Given the description of an element on the screen output the (x, y) to click on. 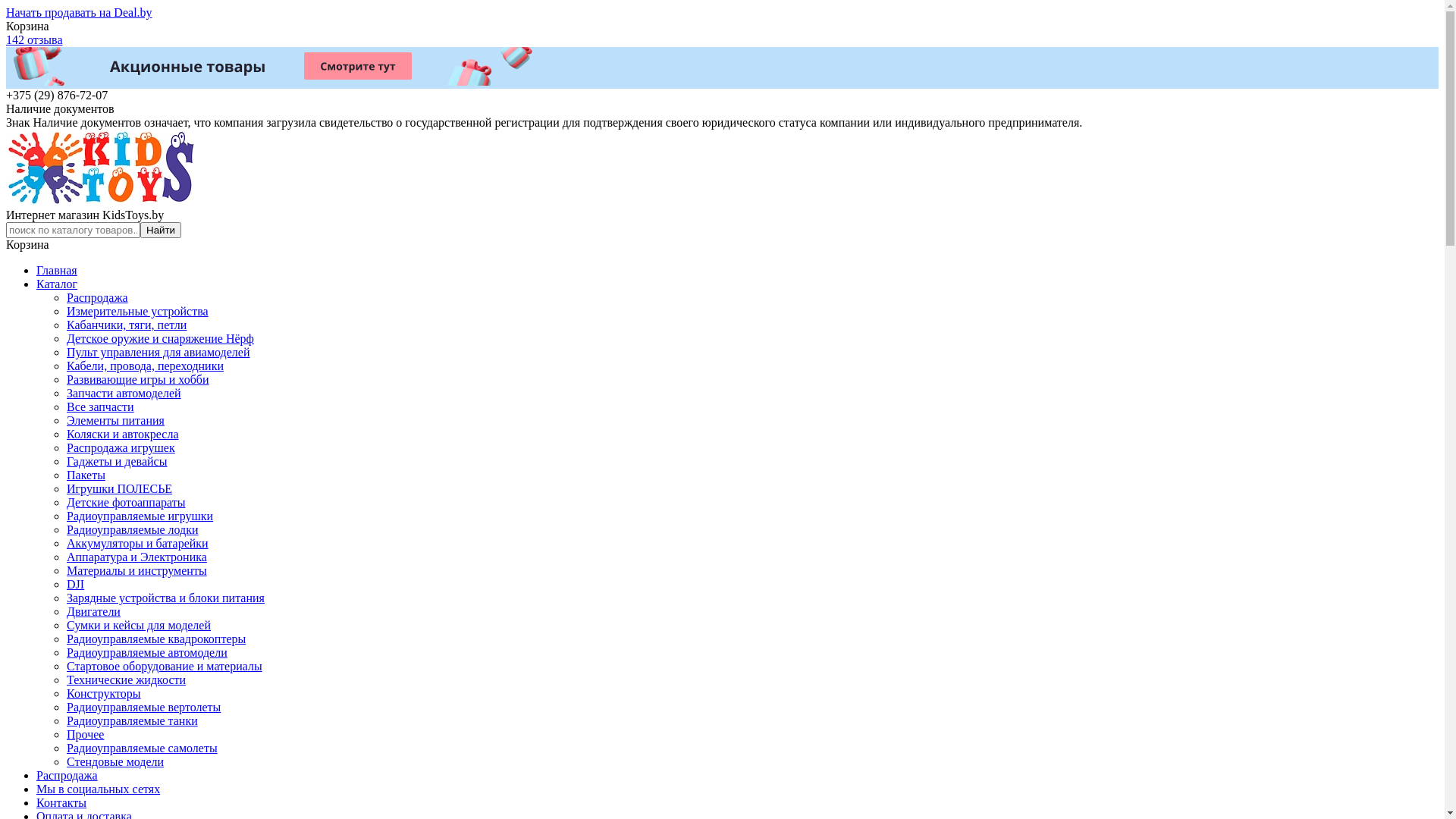
DJI Element type: text (75, 583)
